Given the description of an element on the screen output the (x, y) to click on. 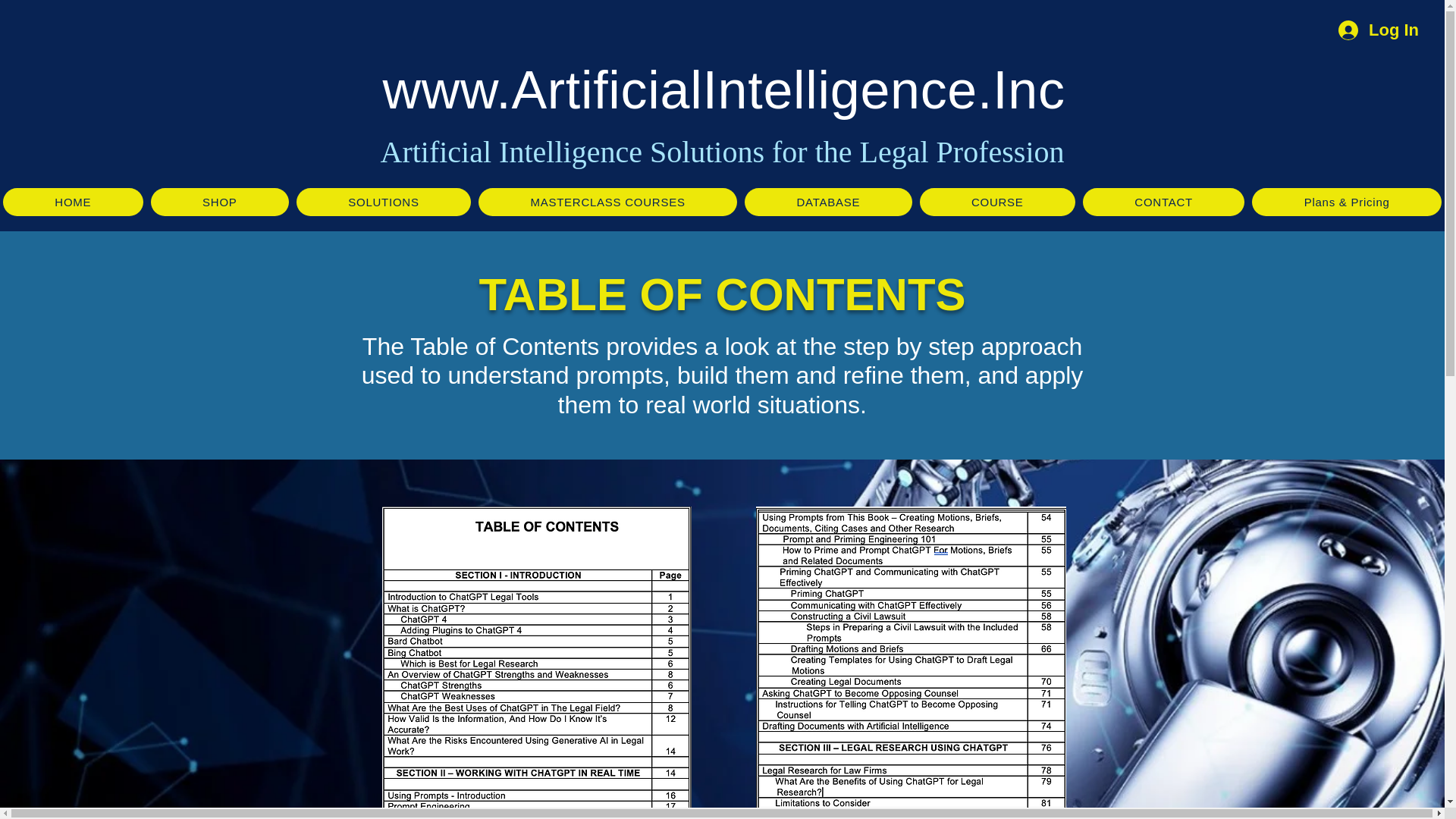
www.ArtificialIntelligence.Inc (722, 89)
HOME (72, 202)
Log In (1378, 30)
COURSE (997, 202)
DATABASE (828, 202)
SOLUTIONS (383, 202)
CONTACT (1163, 202)
SHOP (219, 202)
MASTERCLASS COURSES (607, 202)
